Given the description of an element on the screen output the (x, y) to click on. 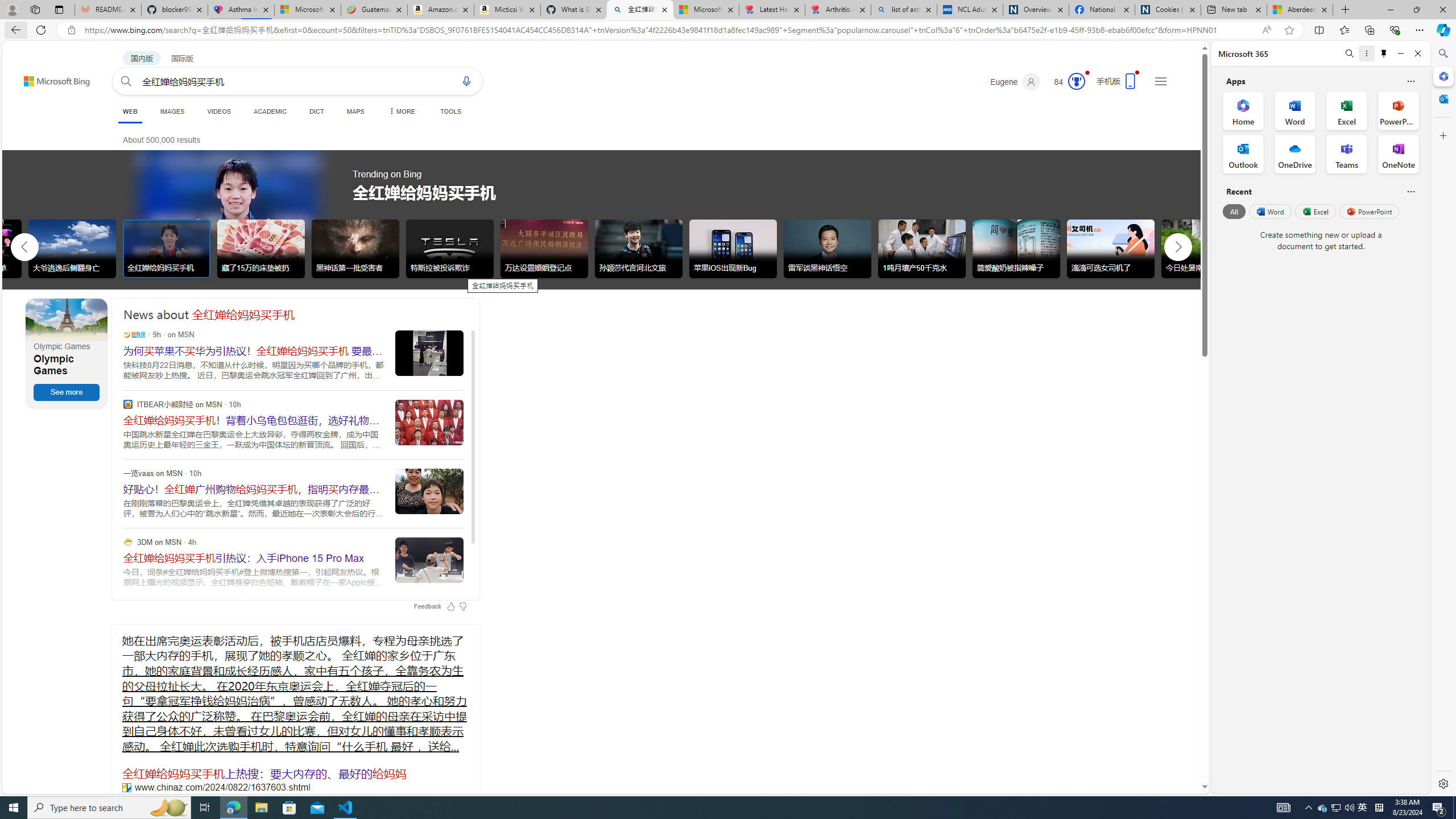
Olympic Games Olympic Games See more (66, 353)
Word (1269, 210)
www.chinaz.com/2024/0822/1637603.shtml (126, 786)
Asthma Inhalers: Names and Types (240, 9)
OneDrive Office App (1295, 154)
WEB (129, 112)
